Given the description of an element on the screen output the (x, y) to click on. 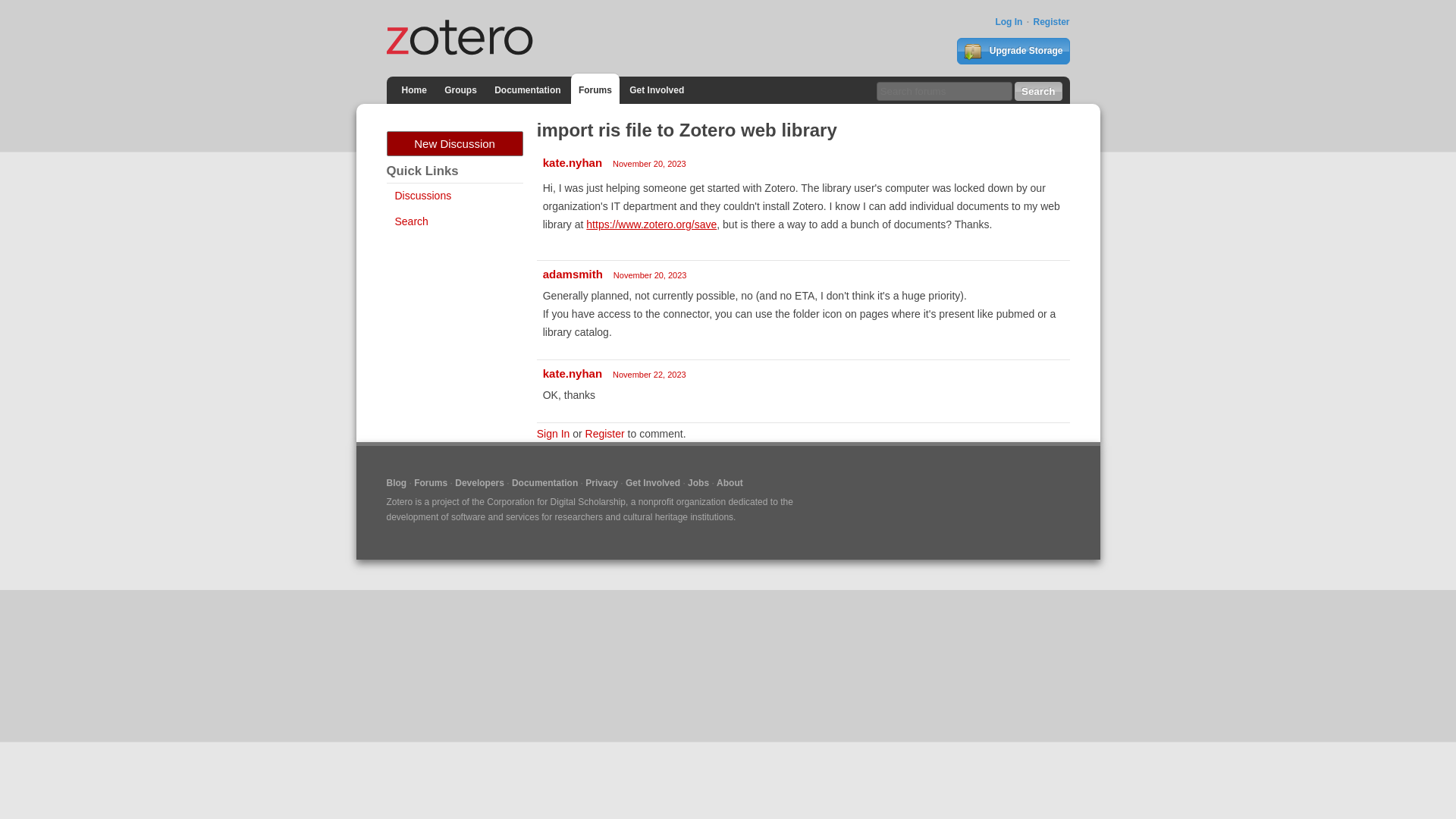
Blog (397, 482)
Register (604, 433)
Developers (478, 482)
Forums (595, 88)
Jobs (698, 482)
kate.nyhan (572, 162)
November 20, 2023 (649, 275)
Documentation (545, 482)
Home (413, 88)
2023-11-22 23:00:29 (648, 374)
Search (411, 221)
Privacy (601, 482)
Corporation for Digital Scholarship (556, 501)
Sign In (553, 433)
Discussions (422, 195)
